Given the description of an element on the screen output the (x, y) to click on. 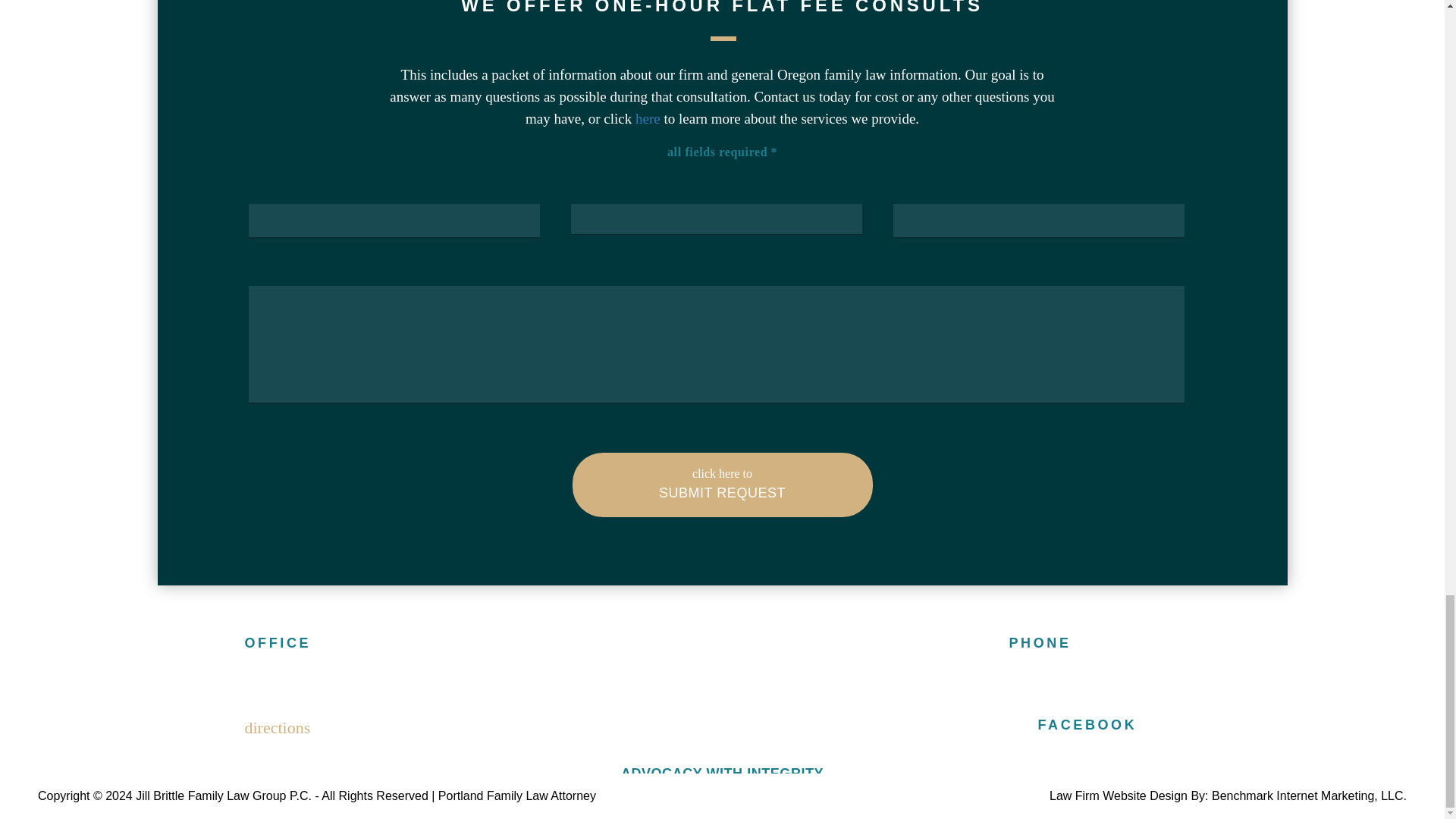
Brittle Family Law (721, 690)
Submit Form (721, 485)
